Given the description of an element on the screen output the (x, y) to click on. 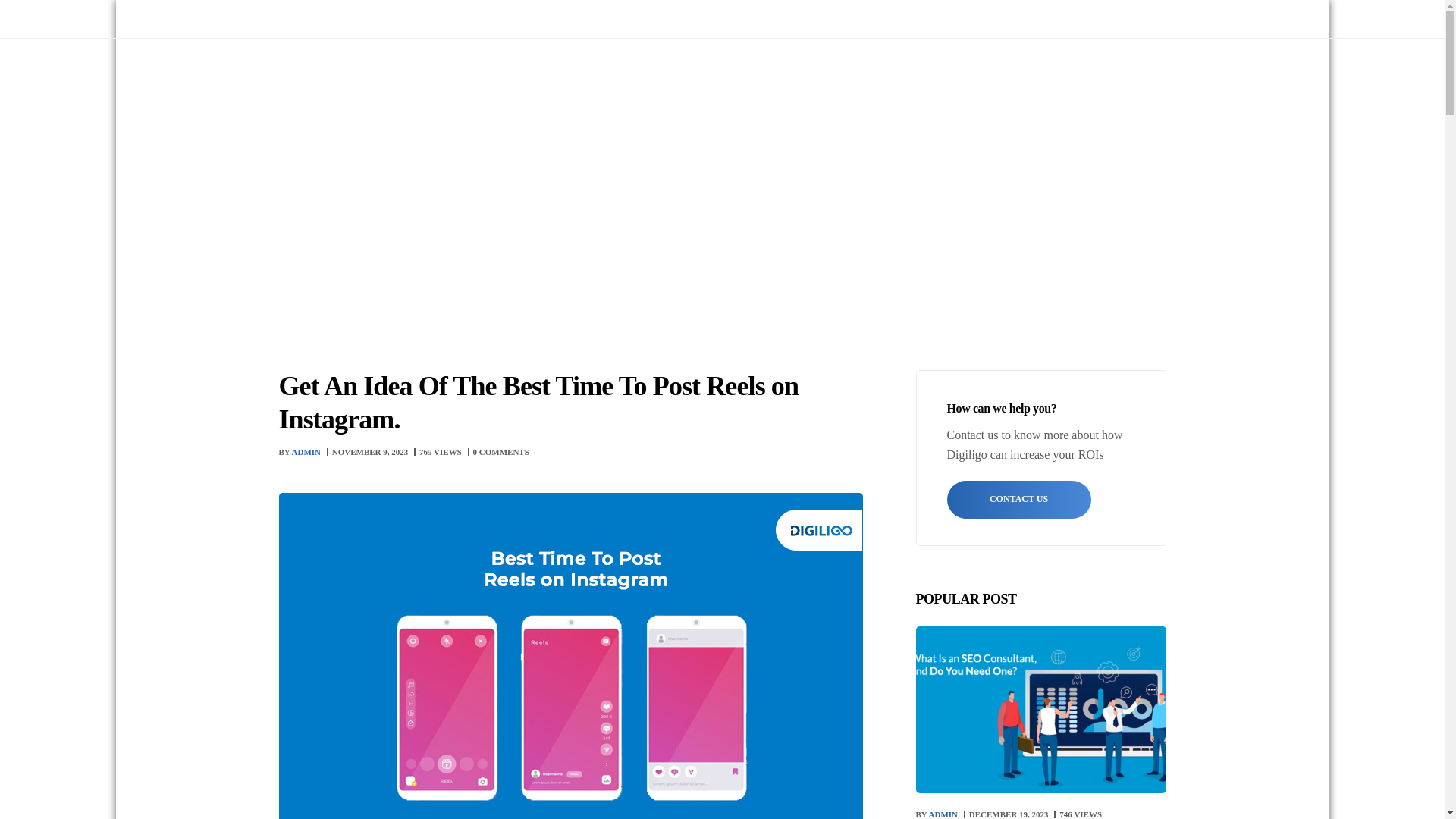
Marketing Solutions (704, 76)
HOME (297, 200)
Transformation Solutions (862, 76)
0 COMMENTS (501, 451)
Digiligo- (368, 76)
BY ADMIN (301, 451)
ANTI FRAUD AND ANTI SCAM POLICY (357, 18)
Browse Author Articles (301, 451)
NOVEMBER 9, 2023 (370, 451)
Get An Idea Of The Best Time To Post Reels on Instagram. (370, 451)
